Given the description of an element on the screen output the (x, y) to click on. 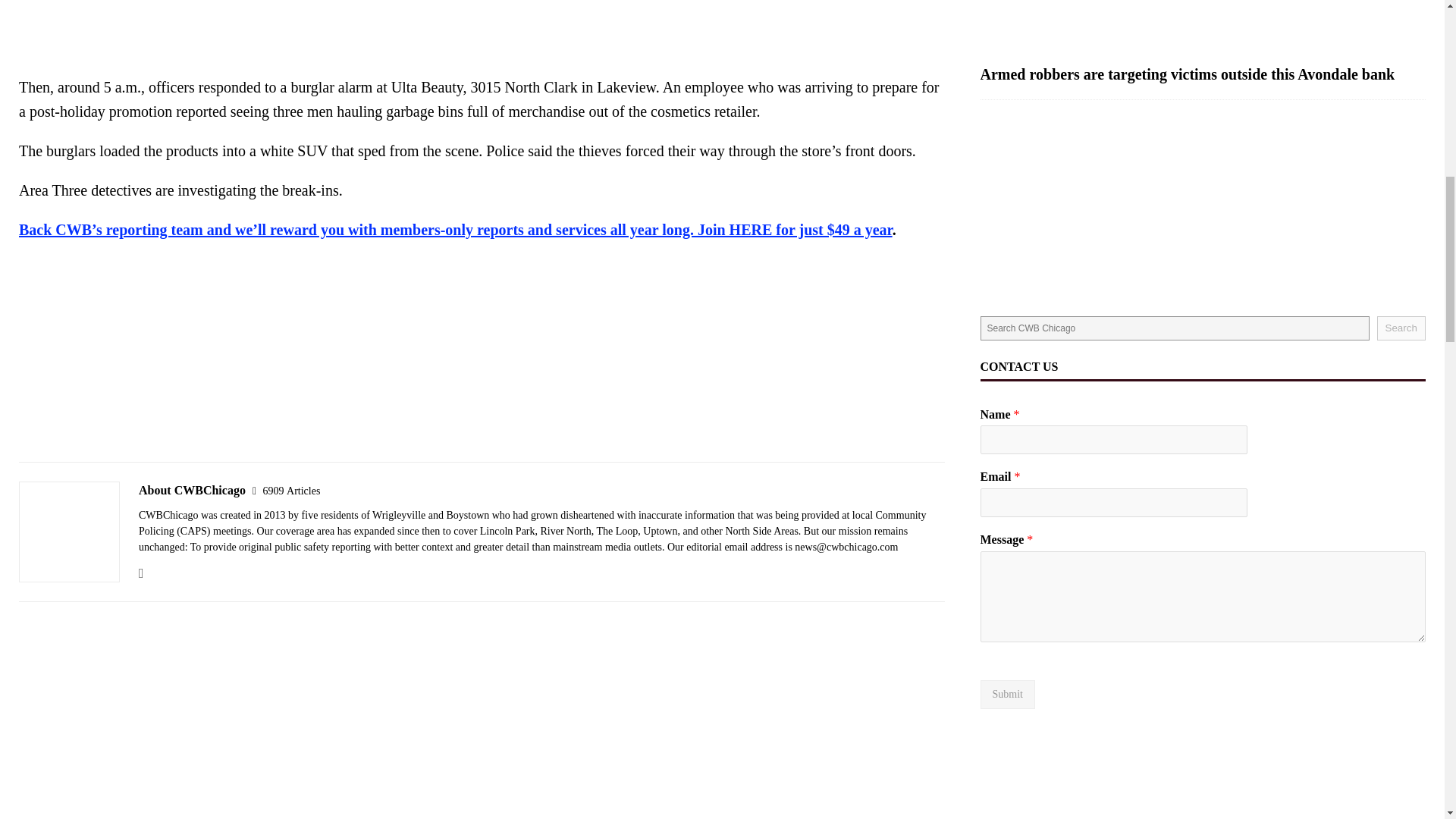
Search (1401, 328)
More articles written by CWBChicago' (291, 490)
6909 Articles (291, 490)
Submit (1007, 694)
